Given the description of an element on the screen output the (x, y) to click on. 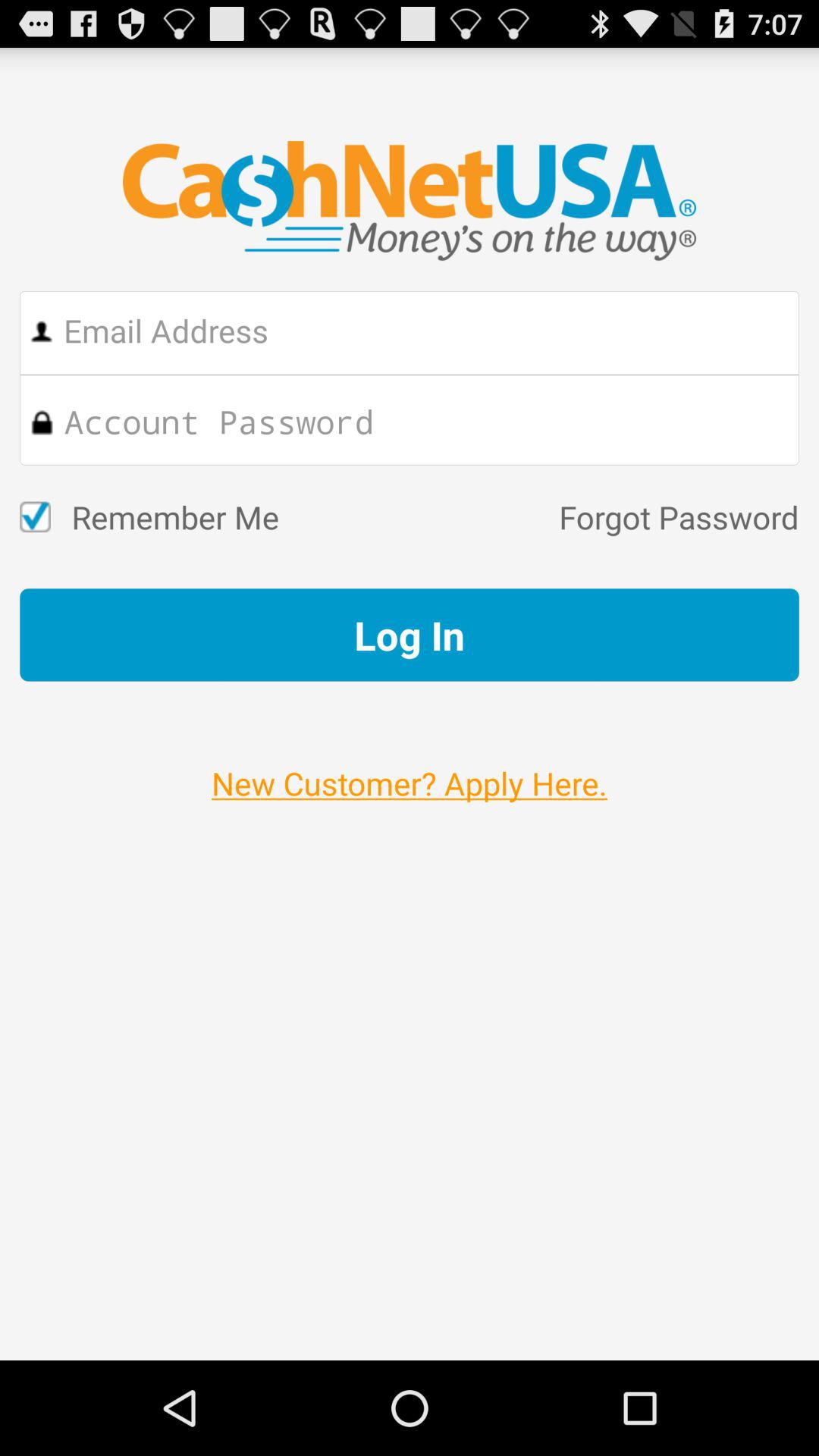
scroll until log in icon (409, 634)
